Given the description of an element on the screen output the (x, y) to click on. 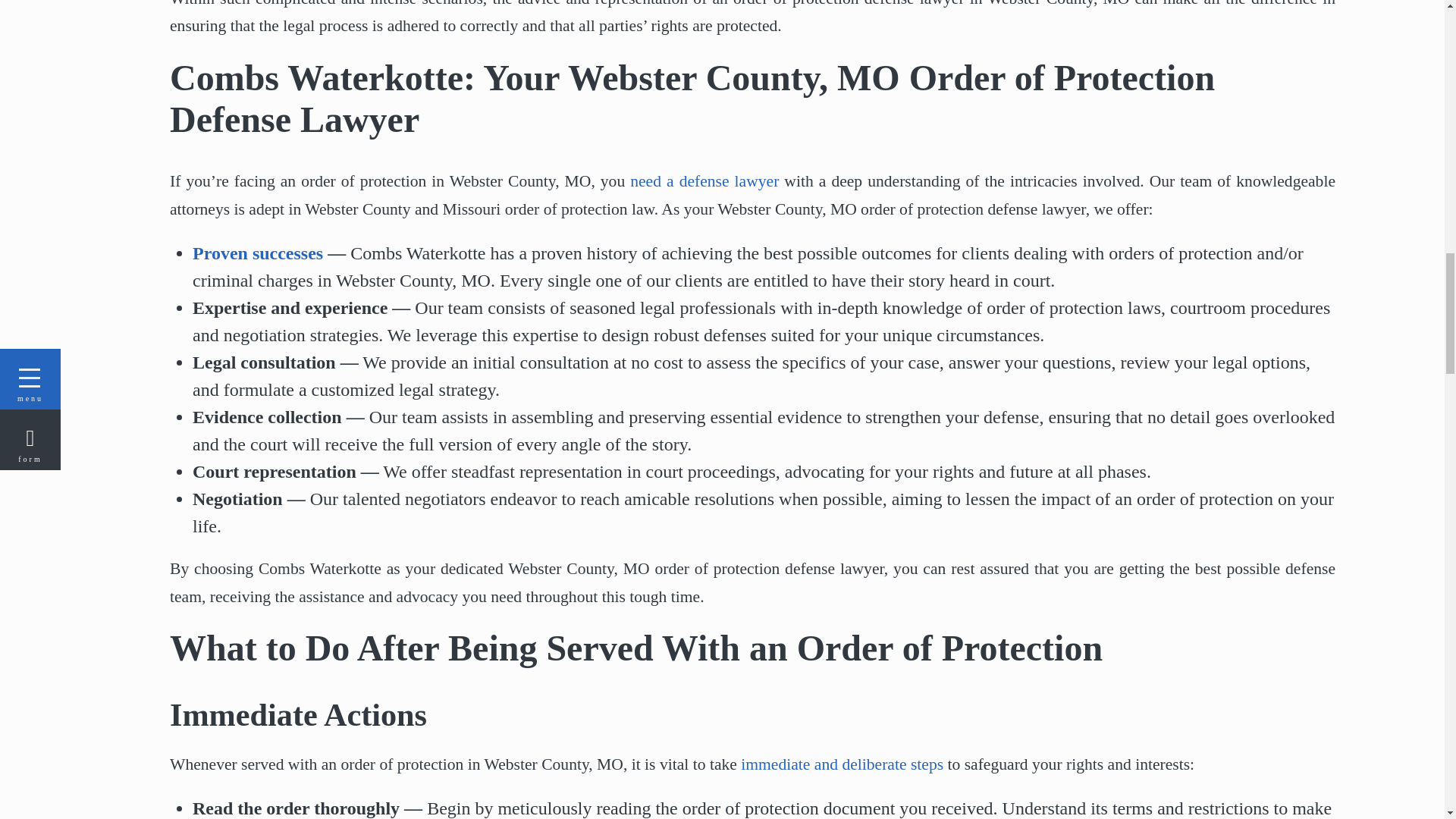
immediate and deliberate steps (842, 764)
need a defense lawyer (704, 180)
Proven successes (257, 252)
